Given the description of an element on the screen output the (x, y) to click on. 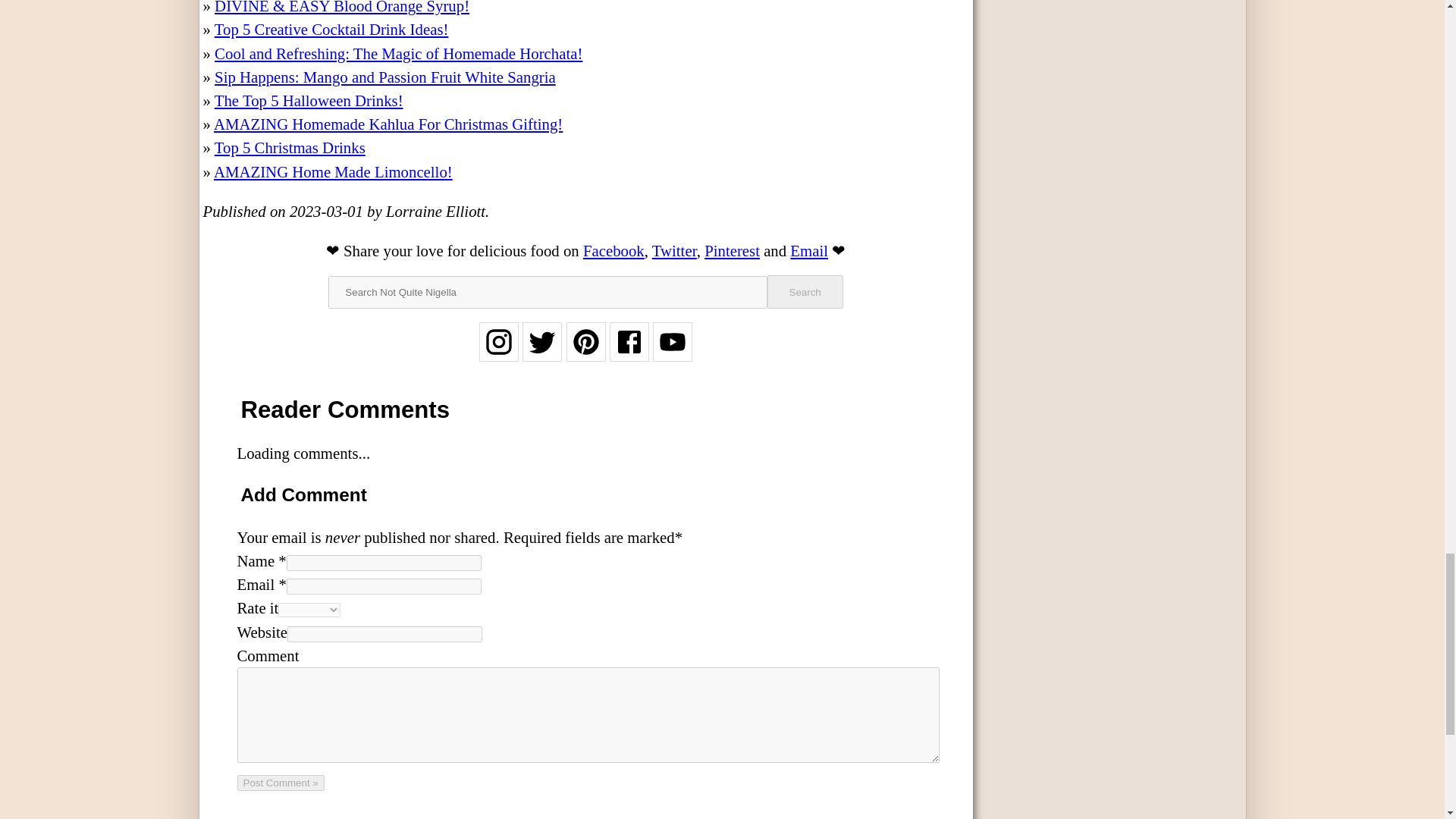
Tweet (674, 249)
AMAZING Homemade Kahlua For Christmas Gifting! (388, 123)
Follow on Instagram (498, 351)
The Top 5 Halloween Drinks! (308, 99)
Top 5 Creative Cocktail Drink Ideas! (331, 28)
Twitter (674, 249)
Follow on Twitter (542, 351)
Top 5 Christmas Drinks (289, 147)
Follow on YouTube (672, 351)
Email (809, 249)
Pin it (732, 249)
Facebook (614, 249)
Sip Happens: Mango and Passion Fruit White Sangria (385, 76)
Follow on Pinterest (584, 351)
Email (809, 249)
